Given the description of an element on the screen output the (x, y) to click on. 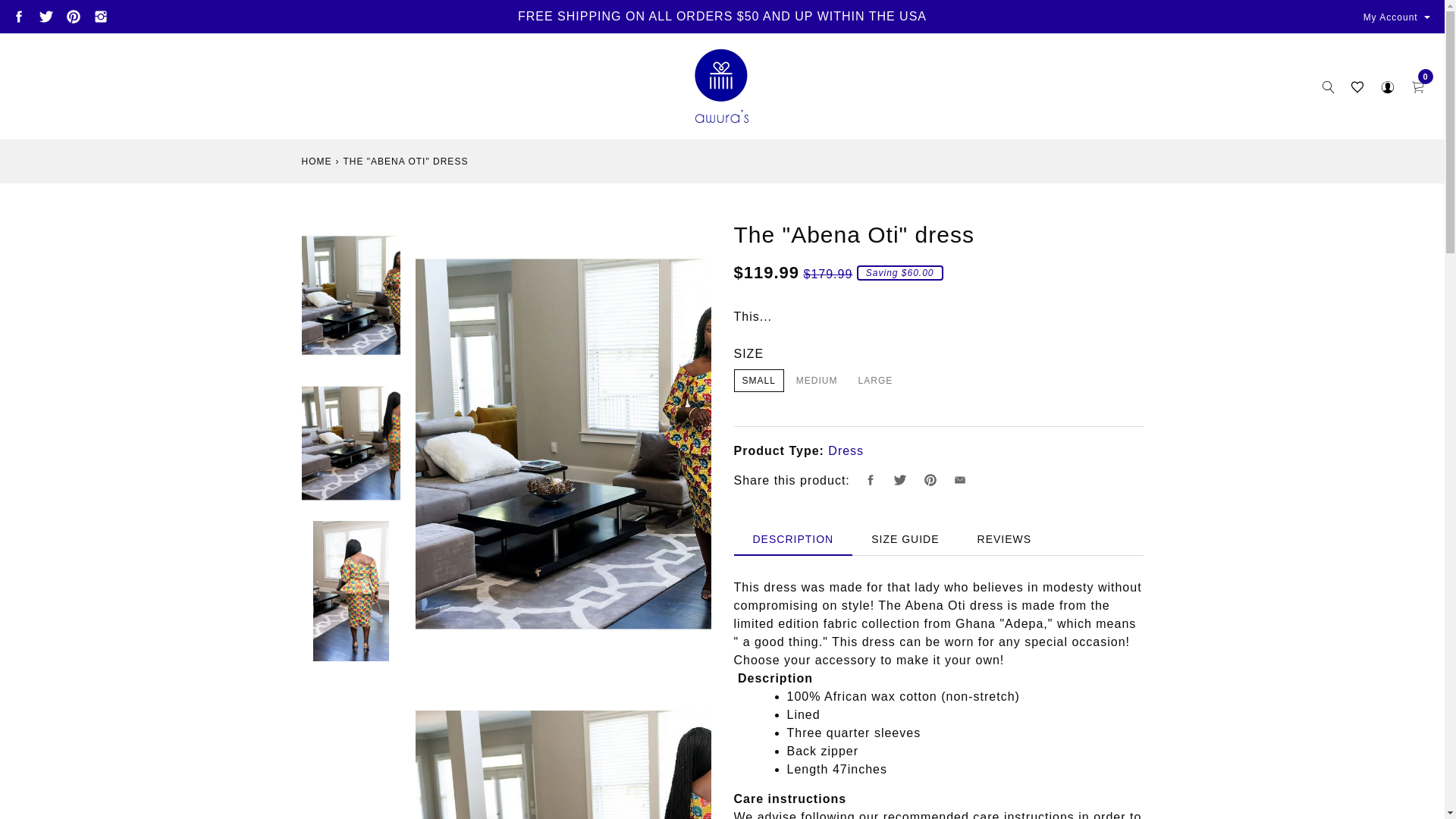
Twitter (45, 16)
Tweet (899, 480)
Share via Email (959, 480)
Awura's Wardrobe  on Instagram (101, 16)
My Account (1397, 17)
Facebook (18, 16)
Instagram (101, 16)
Home (316, 161)
Pinterest (73, 16)
Awura's Wardrobe  on Facebook (18, 16)
